Given the description of an element on the screen output the (x, y) to click on. 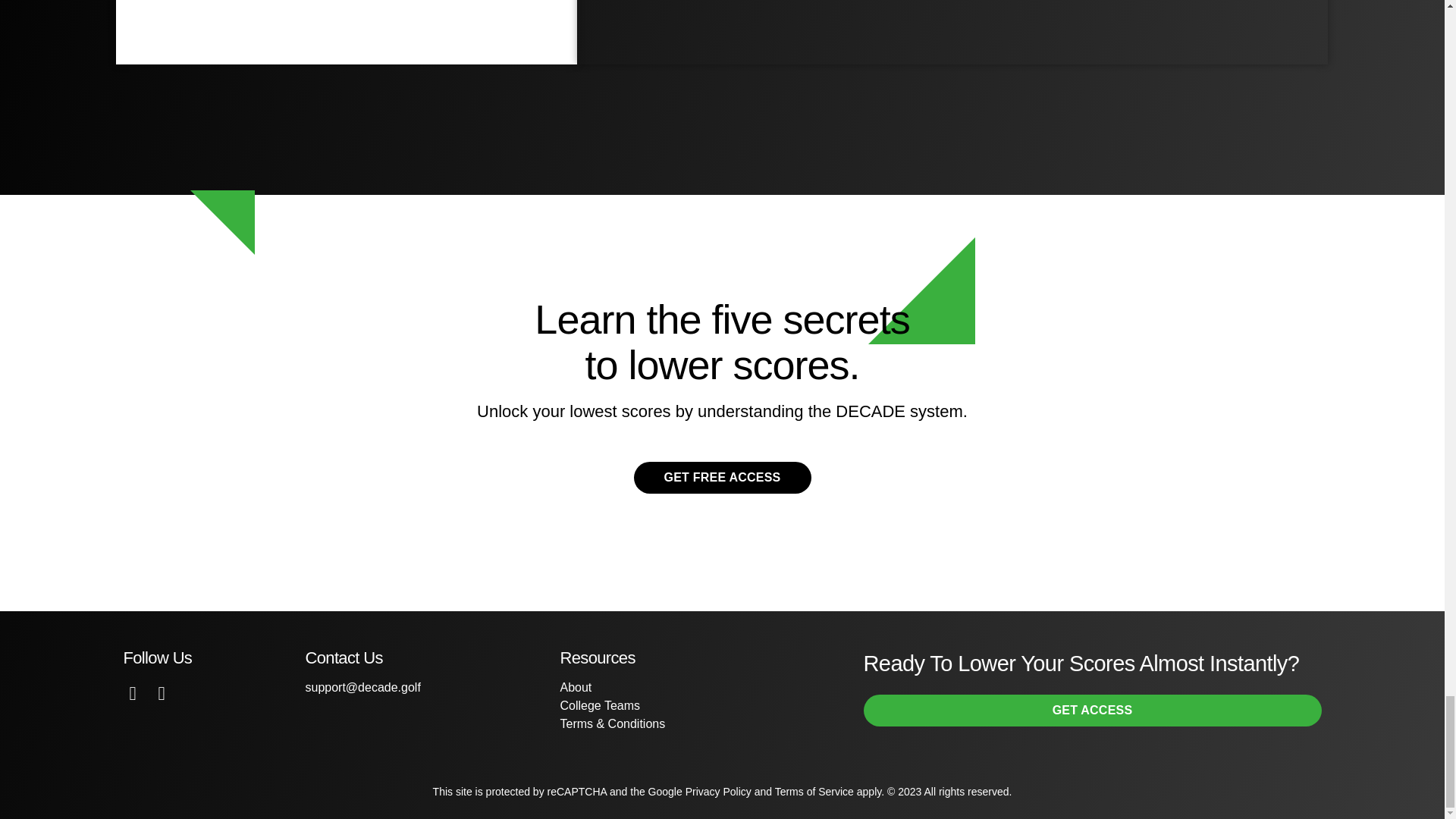
College Teams (599, 705)
GET ACCESS (1091, 710)
GET FREE ACCESS (721, 477)
About (575, 686)
Terms of Service (813, 791)
Privacy Policy (718, 791)
